Given the description of an element on the screen output the (x, y) to click on. 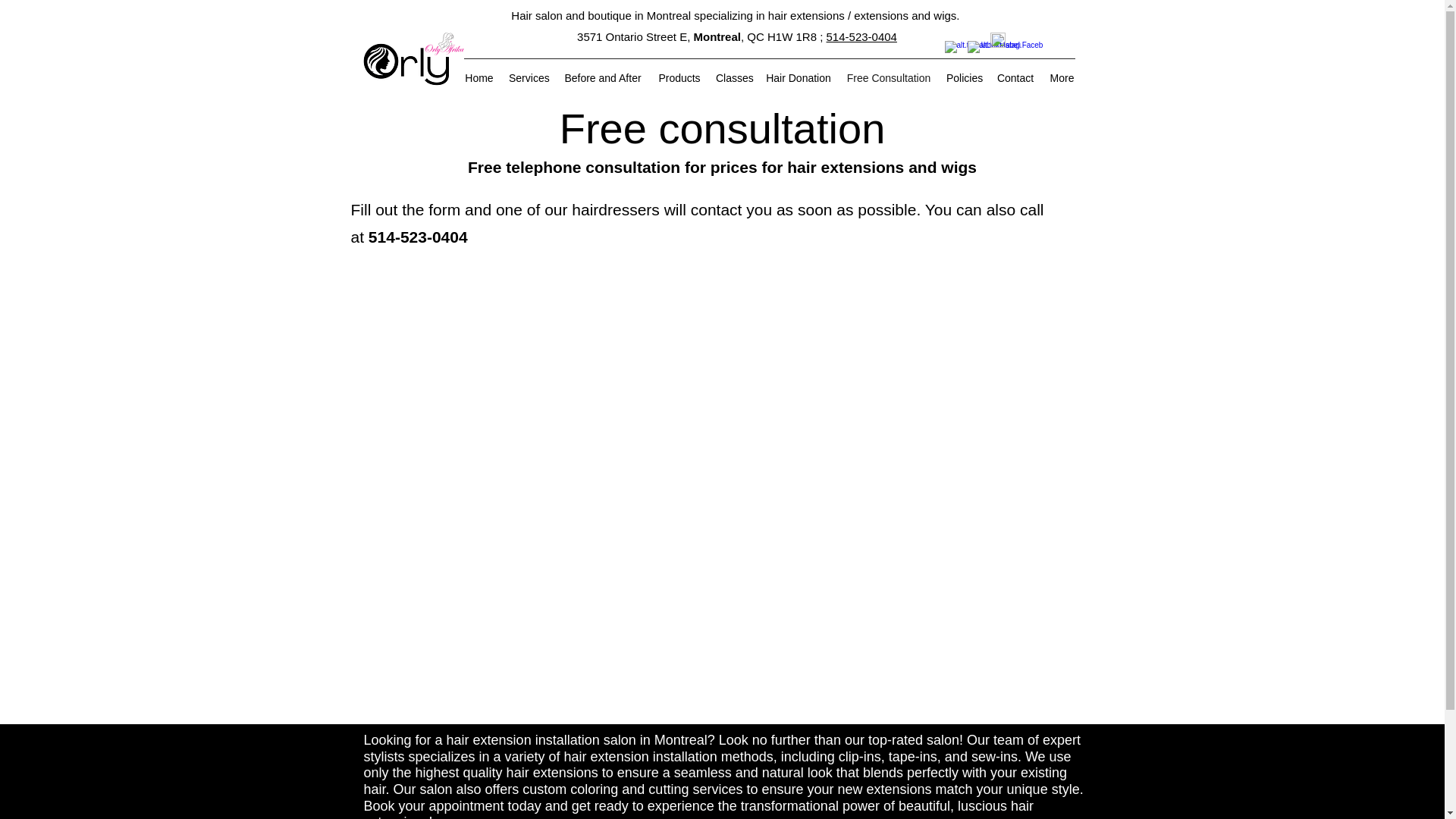
Before and After (602, 77)
Home (478, 77)
Free Consultation (888, 77)
Salon Orly Afrika logo extensions montre (405, 64)
Policies (963, 77)
Contact (1015, 77)
Products (678, 77)
Classes (732, 77)
Hair Donation (798, 77)
Services (527, 77)
